Given the description of an element on the screen output the (x, y) to click on. 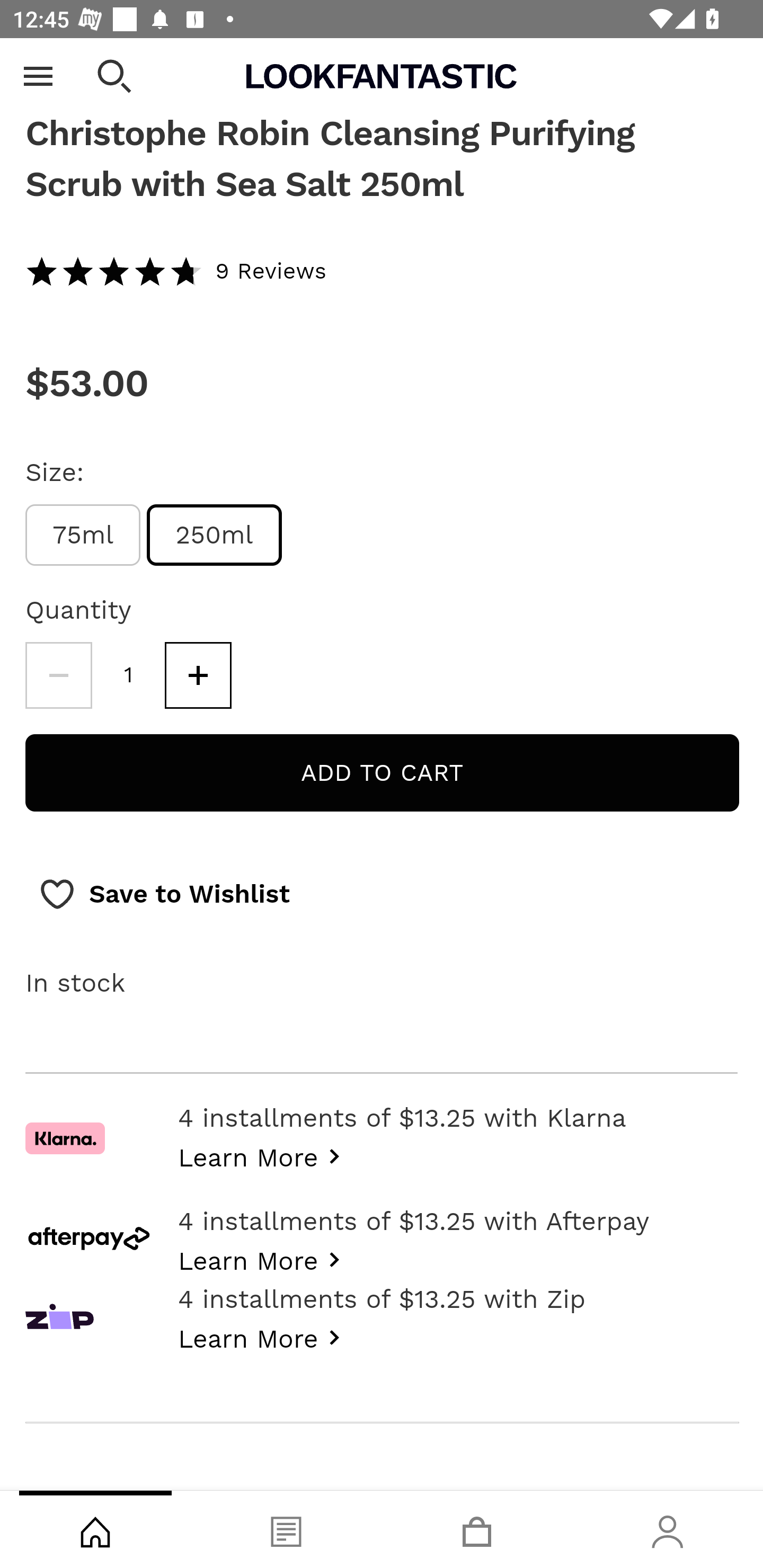
Christophe Robin (381, 67)
75ml (83, 535)
250ml selected (214, 535)
Decrease quantity (58, 675)
1, Quantity (128, 675)
Increase quantity (197, 675)
Add to cart (382, 773)
Save to Wishlist (164, 895)
Learn More about klarna_slice (263, 1156)
Learn More about afterpay (263, 1259)
Learn More about quadpay (263, 1337)
Shop, tab, 1 of 4 (95, 1529)
Blog, tab, 2 of 4 (285, 1529)
Basket, tab, 3 of 4 (476, 1529)
Account, tab, 4 of 4 (667, 1529)
